Given the description of an element on the screen output the (x, y) to click on. 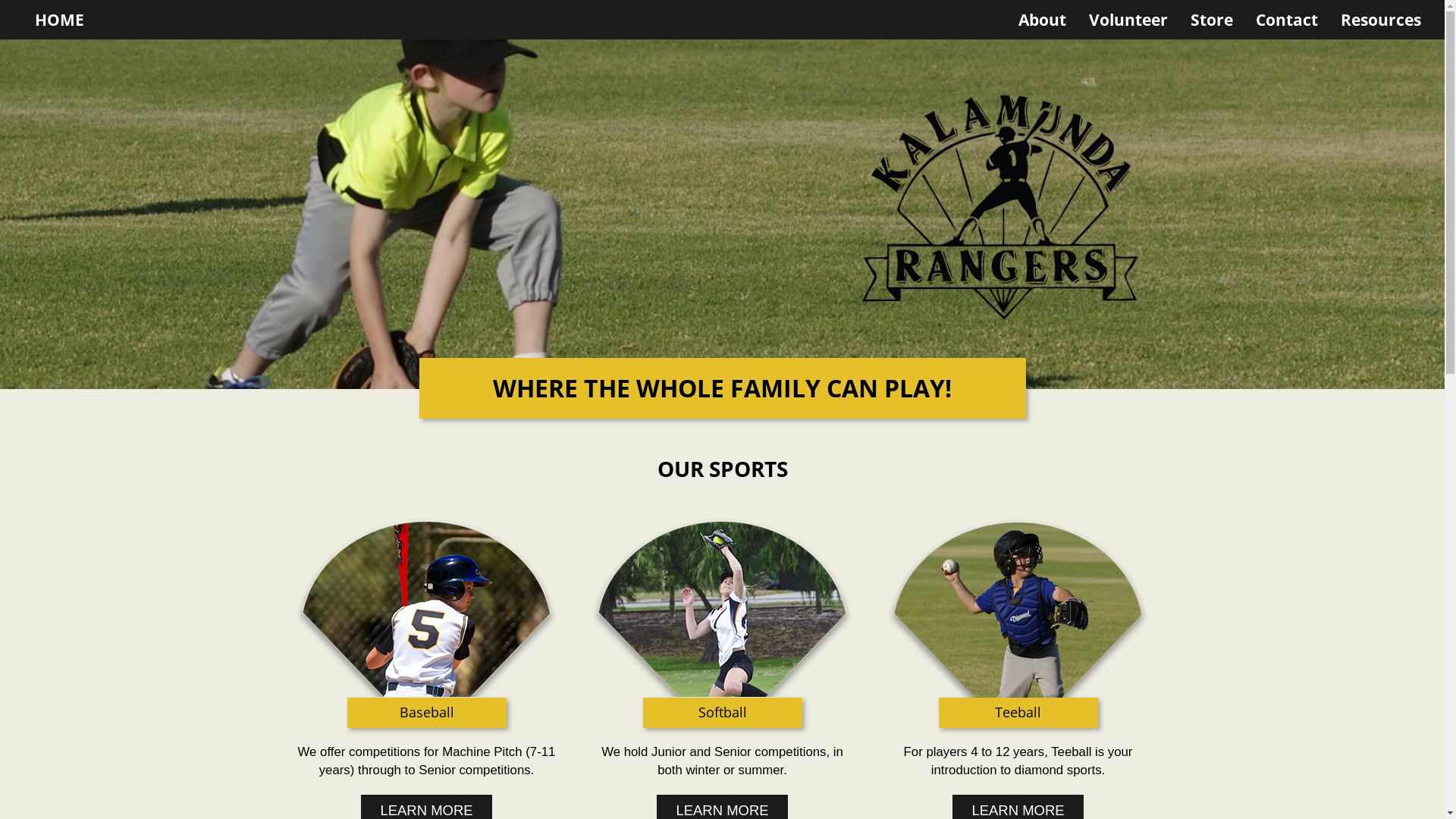
Volunteer Element type: text (1128, 19)
Contact Element type: text (1286, 19)
Store Element type: text (1211, 19)
Resources Element type: text (1380, 19)
About Element type: text (1042, 19)
HOME Element type: text (59, 19)
